Given the description of an element on the screen output the (x, y) to click on. 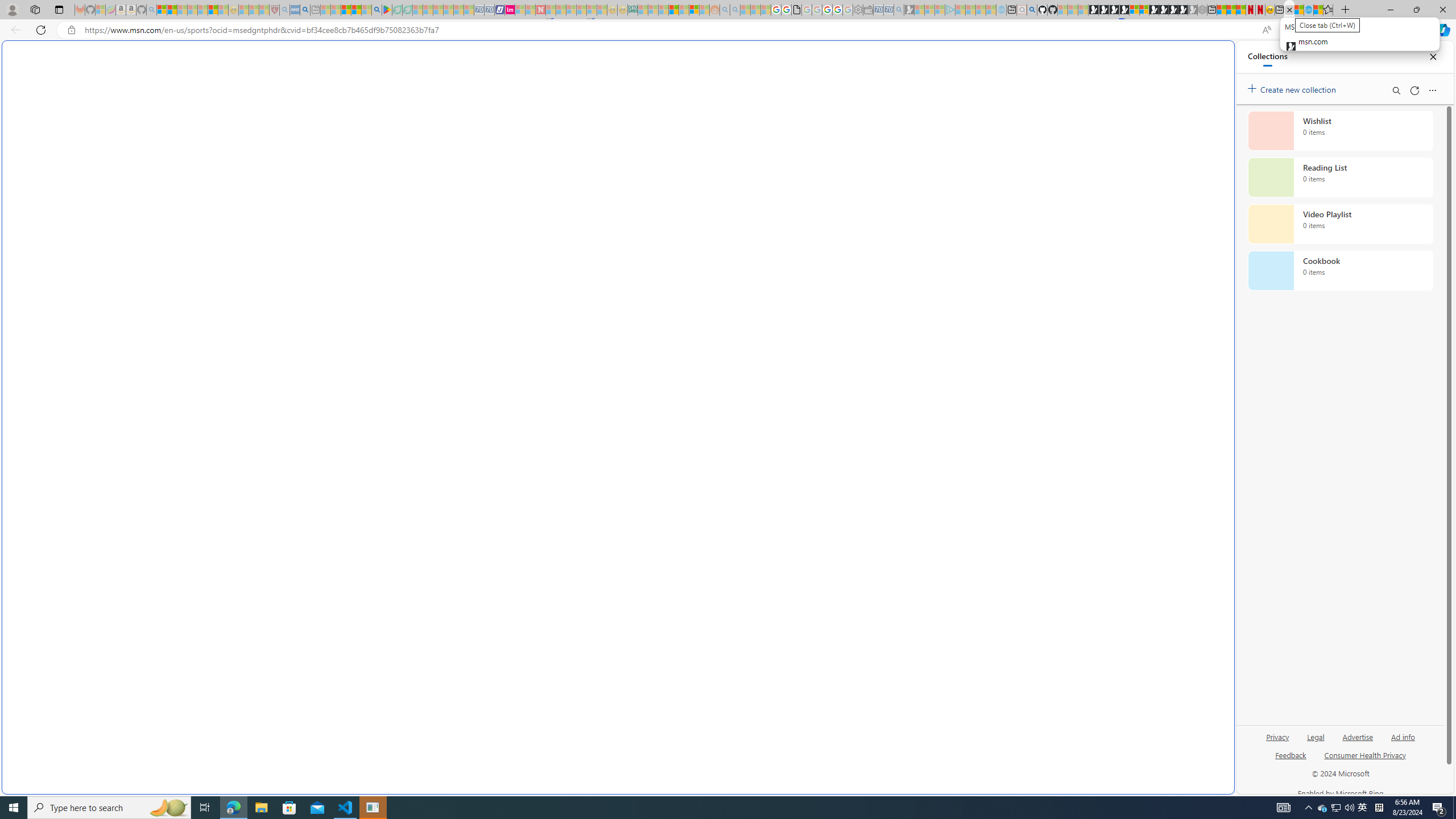
Search or enter web address (922, 108)
